Given the description of an element on the screen output the (x, y) to click on. 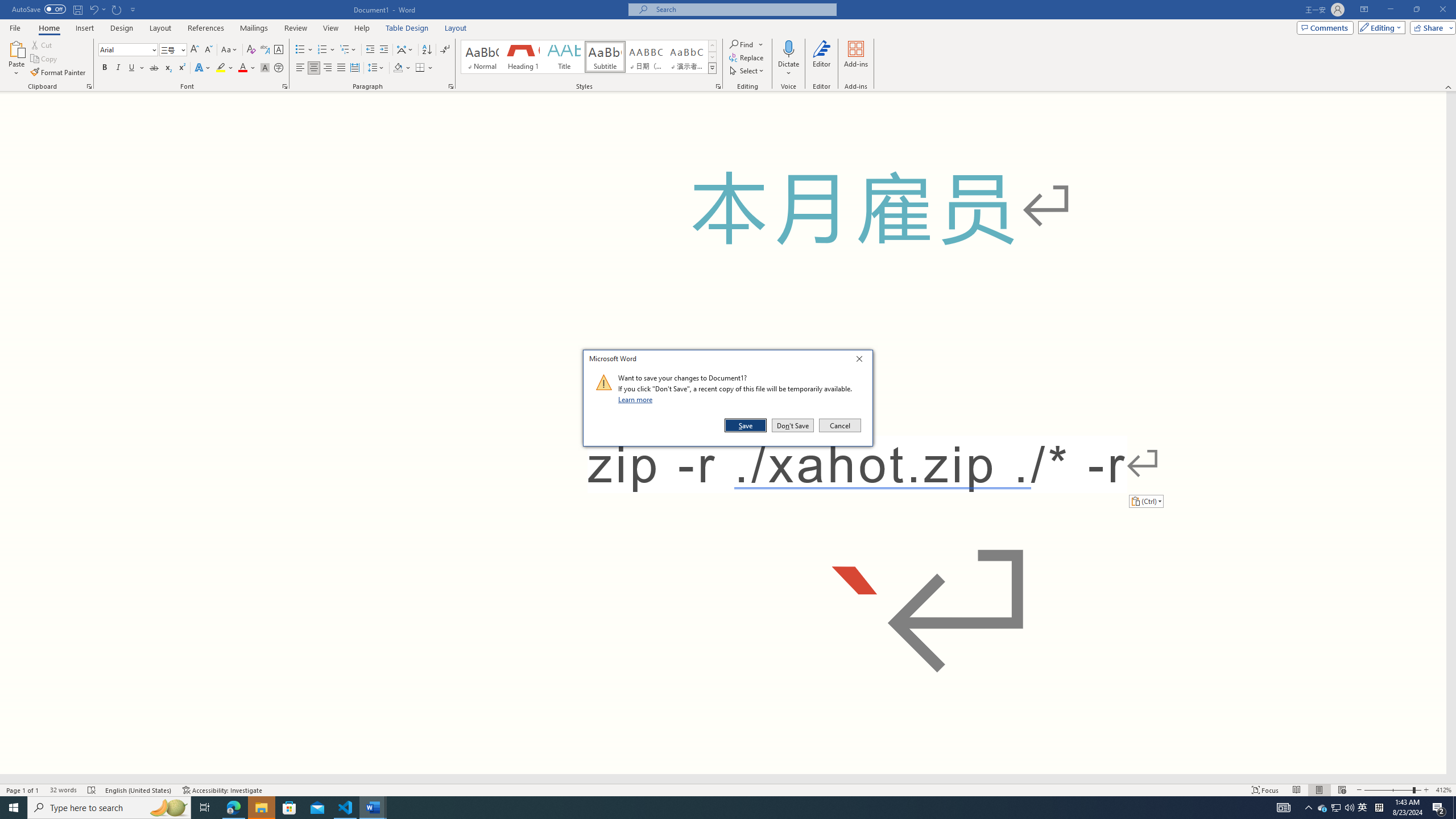
Word - 2 running windows (373, 807)
AutomationID: QuickStylesGallery (588, 56)
